Given the description of an element on the screen output the (x, y) to click on. 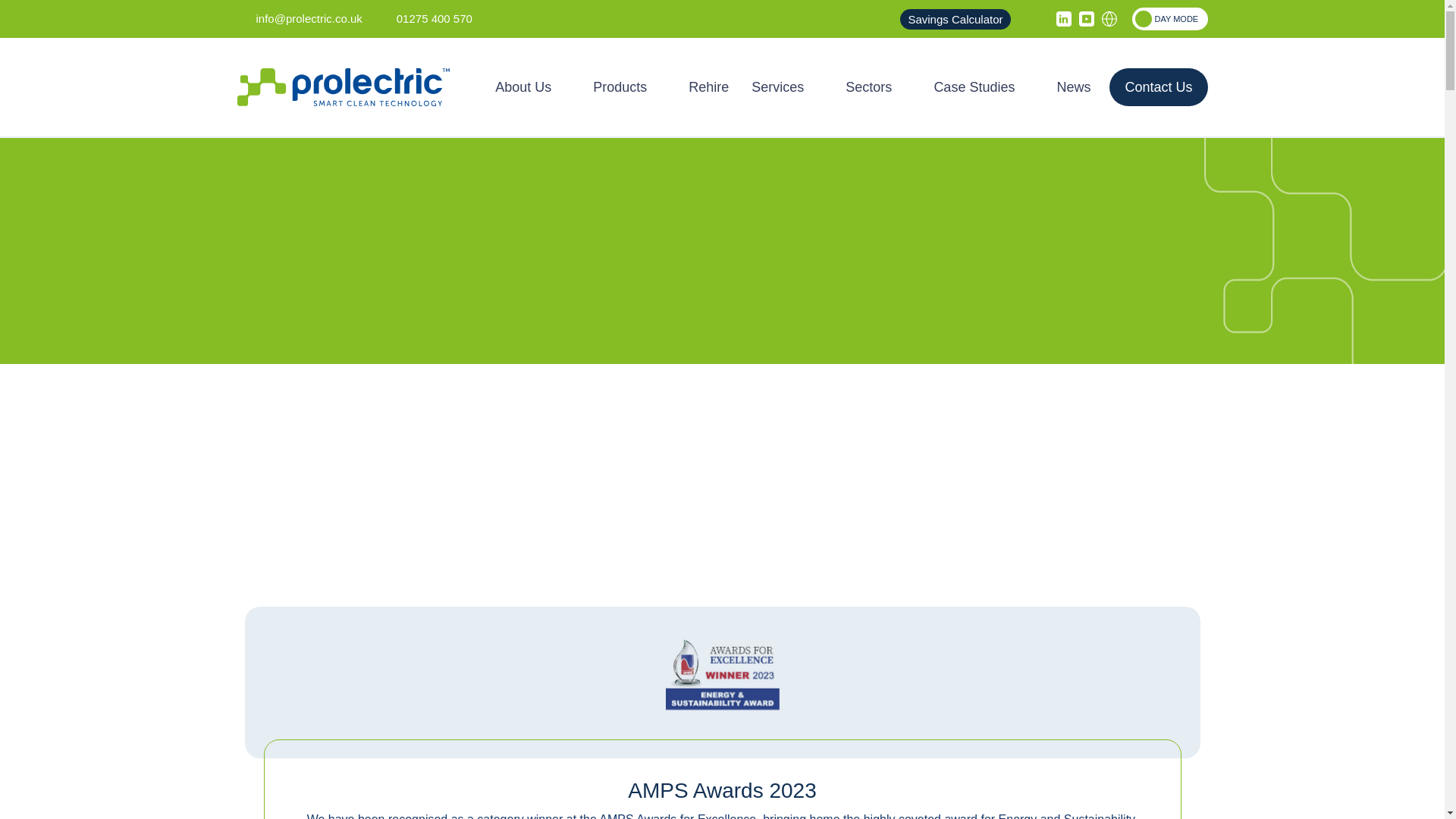
About Us (531, 86)
01275 400 570 (424, 18)
Services (786, 86)
Savings Calculator (954, 19)
Search (1040, 18)
Products (628, 86)
Prolectric (341, 86)
AMPS Awards 2023 (721, 673)
Rehire (708, 86)
Sectors (877, 86)
Globe Icon (1108, 18)
